Given the description of an element on the screen output the (x, y) to click on. 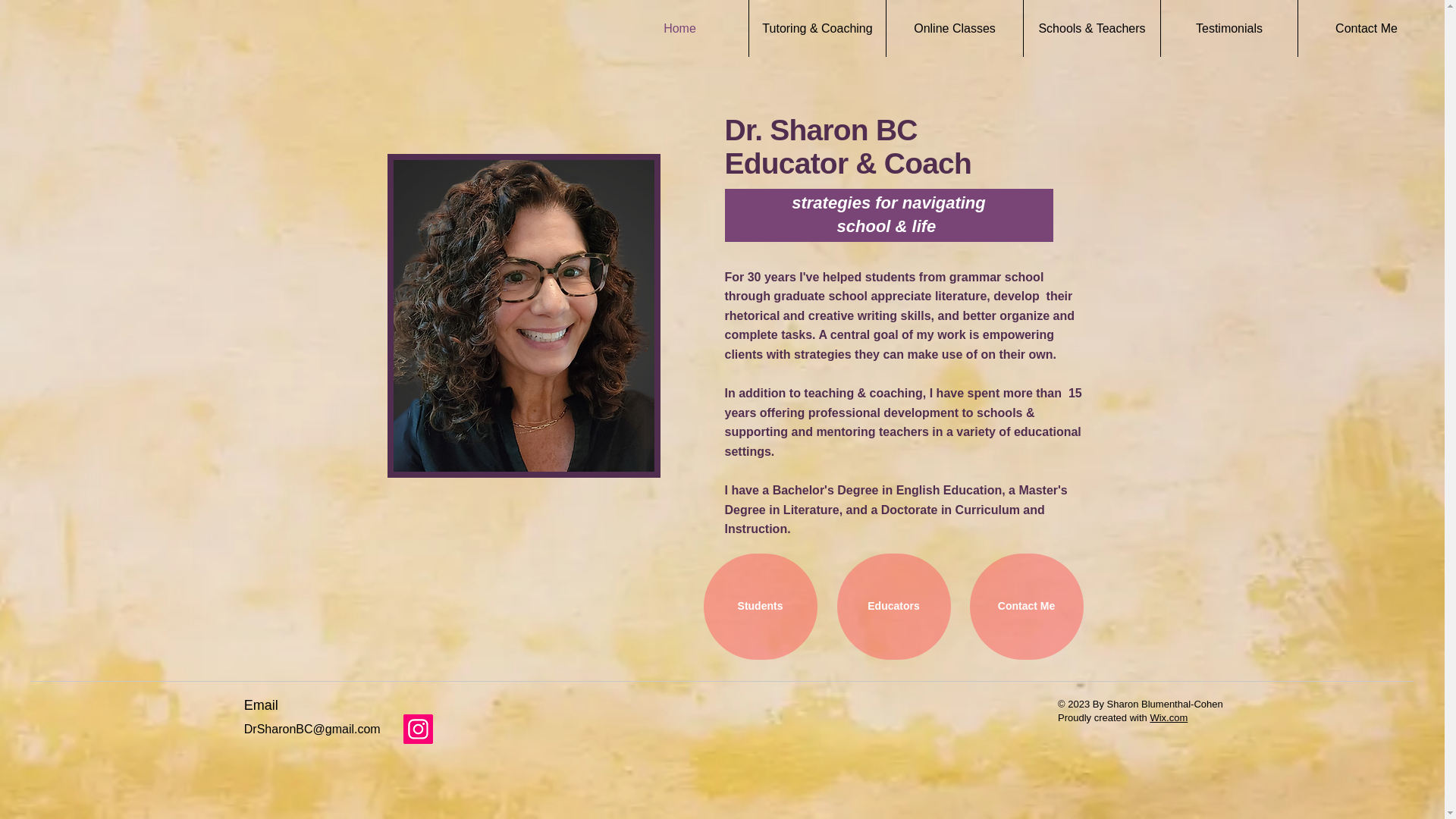
Online Classes (954, 28)
Testimonials (1228, 28)
Educators (893, 606)
Contact Me (1366, 28)
Students (759, 606)
Wix.com (1169, 717)
Home (679, 28)
Contact Me (1026, 606)
